Given the description of an element on the screen output the (x, y) to click on. 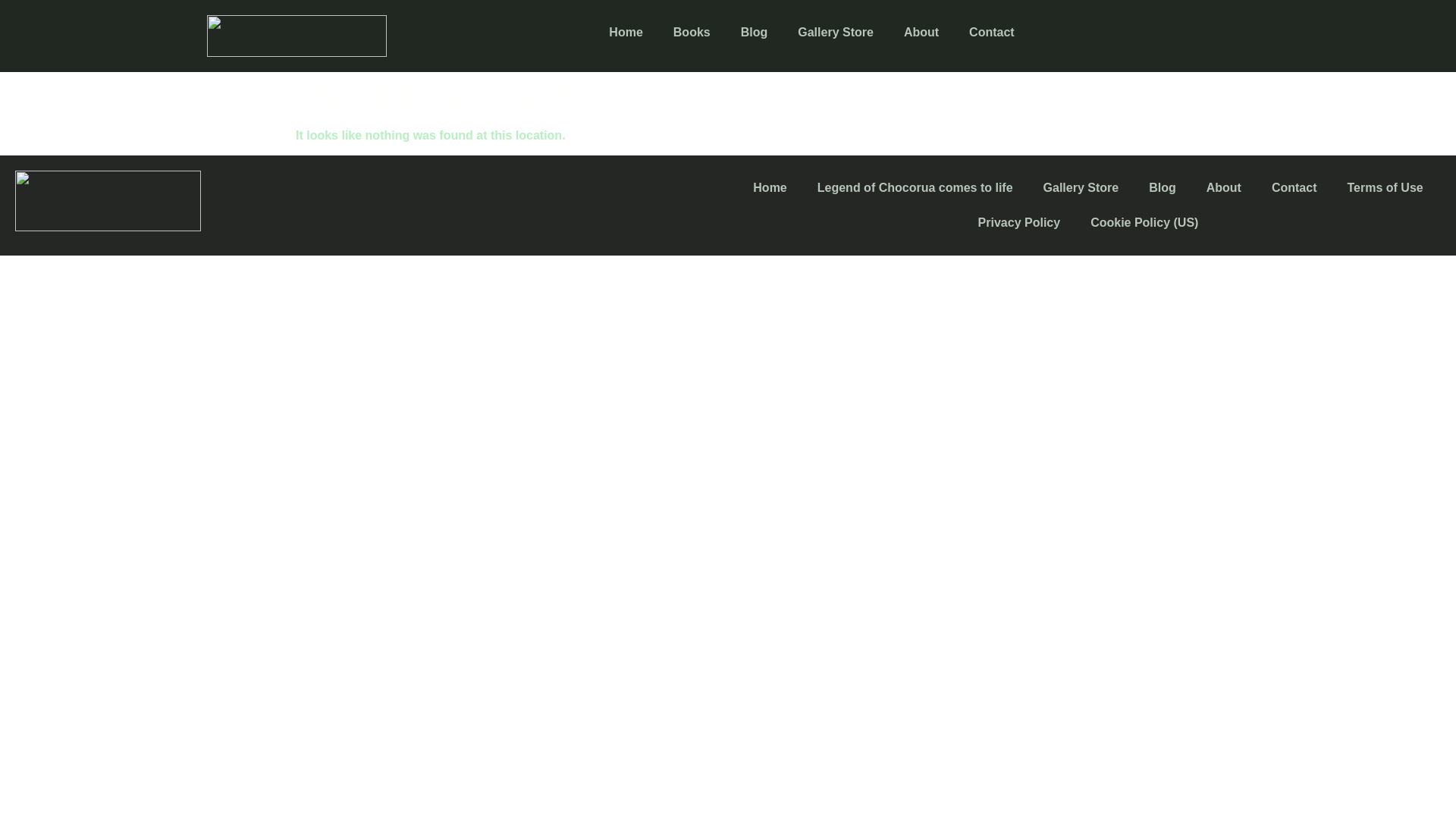
Terms of Use (1385, 187)
Gallery Store (1080, 187)
Blog (754, 32)
Legend of Chocorua comes to life (914, 187)
Blog (1162, 187)
Home (770, 187)
Gallery Store (835, 32)
Books (691, 32)
About (920, 32)
Contact (1294, 187)
